Given the description of an element on the screen output the (x, y) to click on. 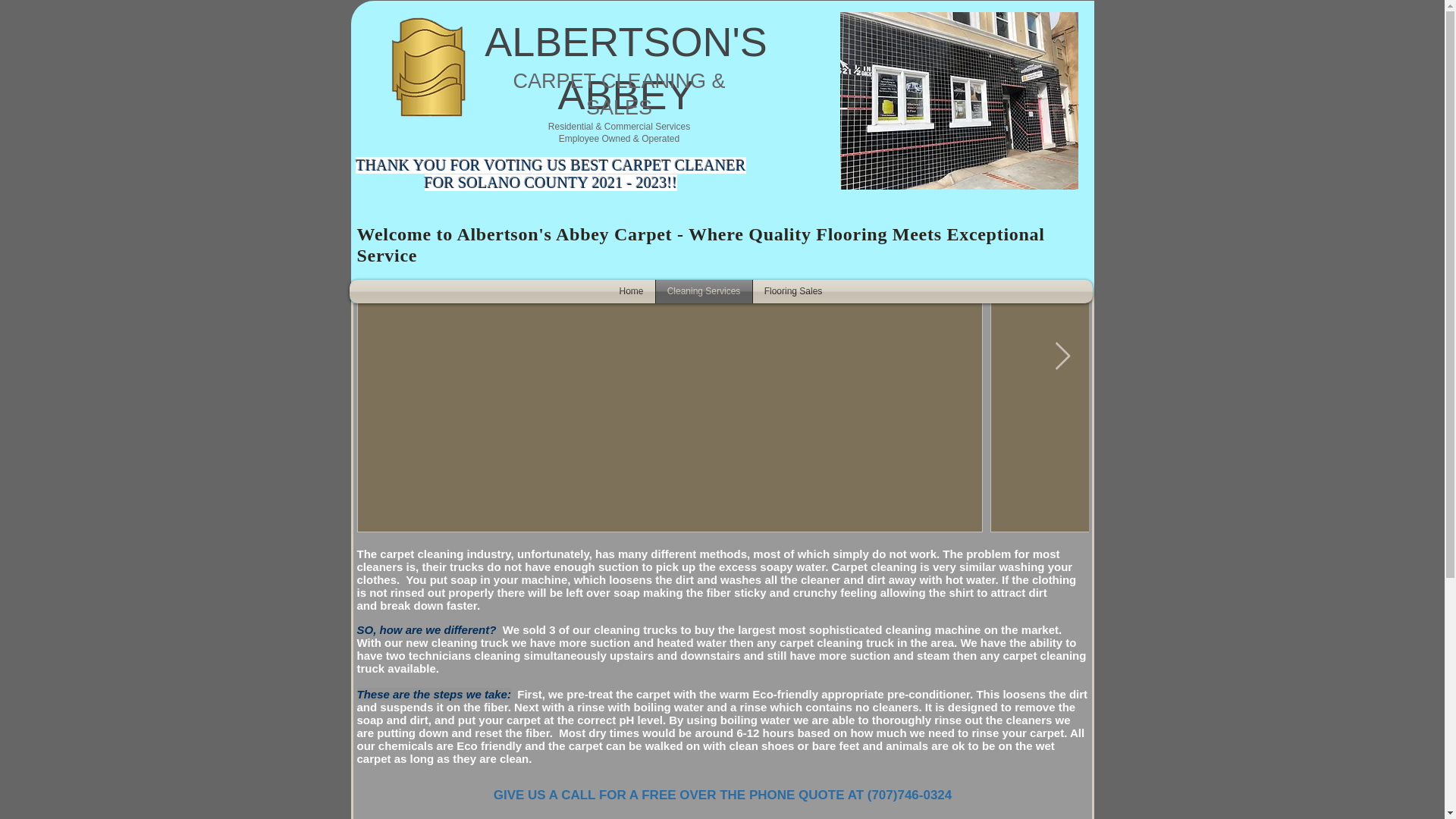
Flooring Sales (792, 291)
Home (631, 291)
Cleaning Services (703, 291)
ALBERTSON'S ABBEY (625, 67)
